Given the description of an element on the screen output the (x, y) to click on. 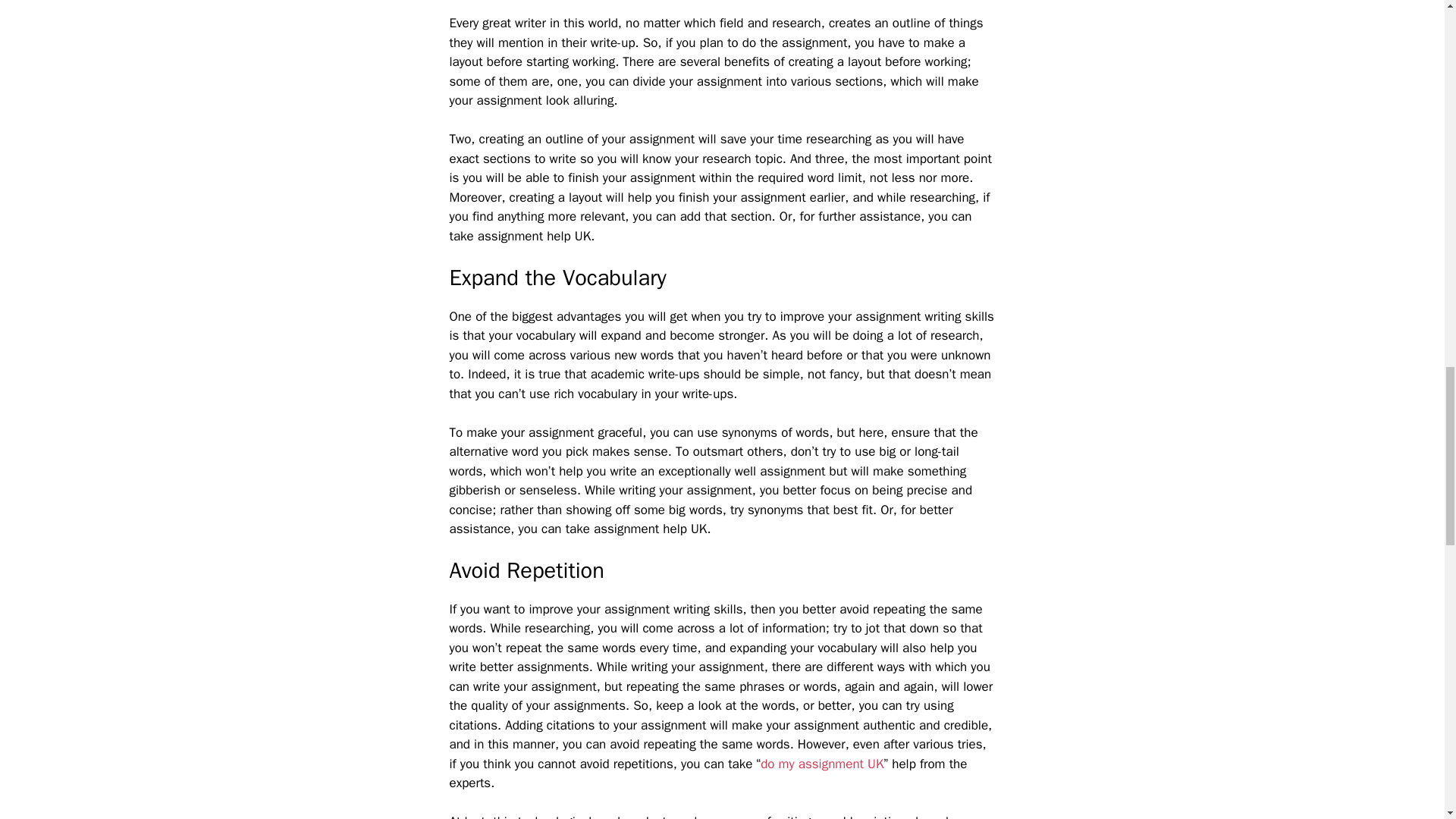
do my assignment UK (821, 763)
